Given the description of an element on the screen output the (x, y) to click on. 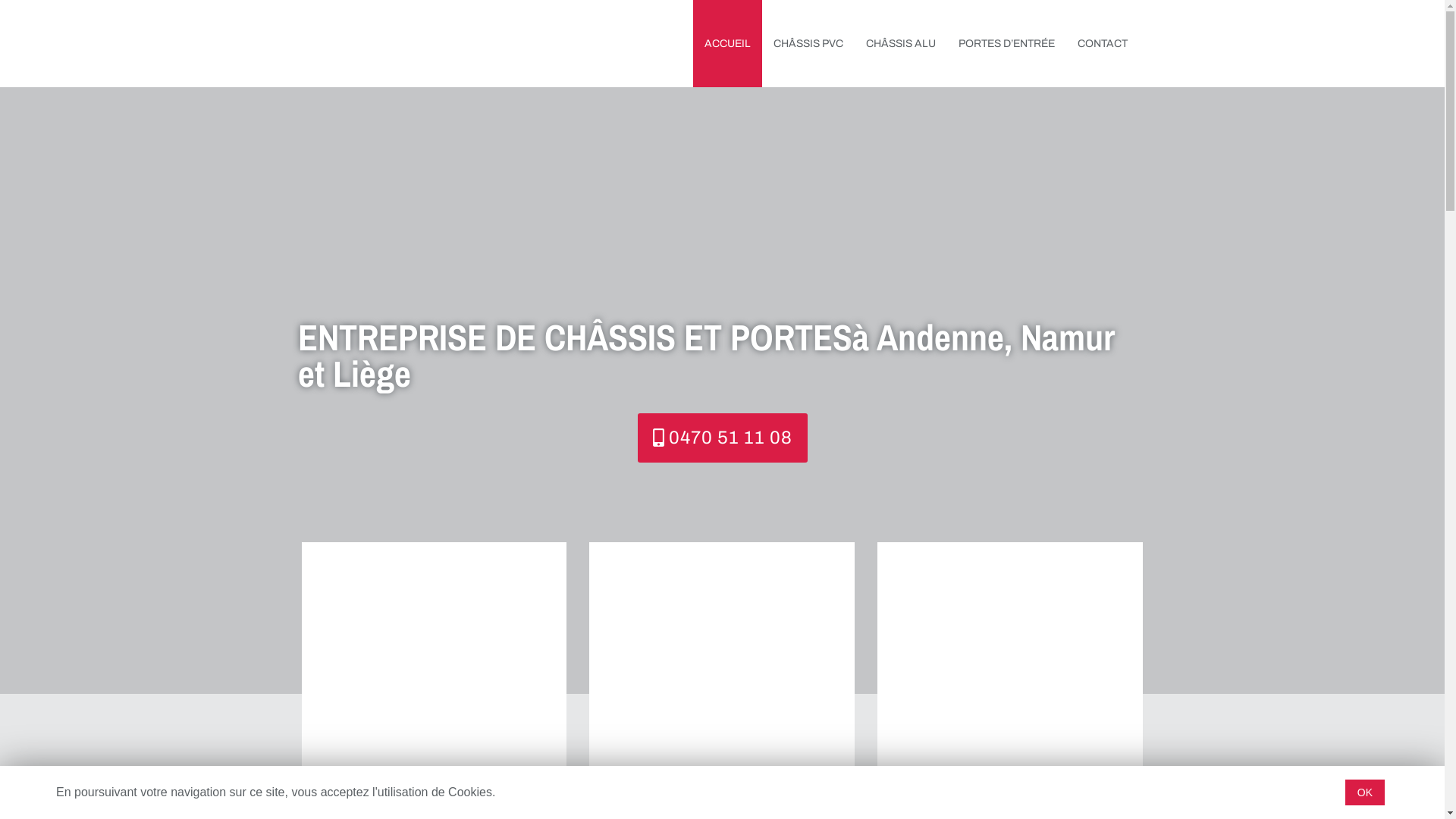
ACCUEIL Element type: text (727, 43)
0470 51 11 08 Element type: text (721, 436)
CONTACT Element type: text (1102, 43)
OK Element type: text (1364, 792)
